Given the description of an element on the screen output the (x, y) to click on. 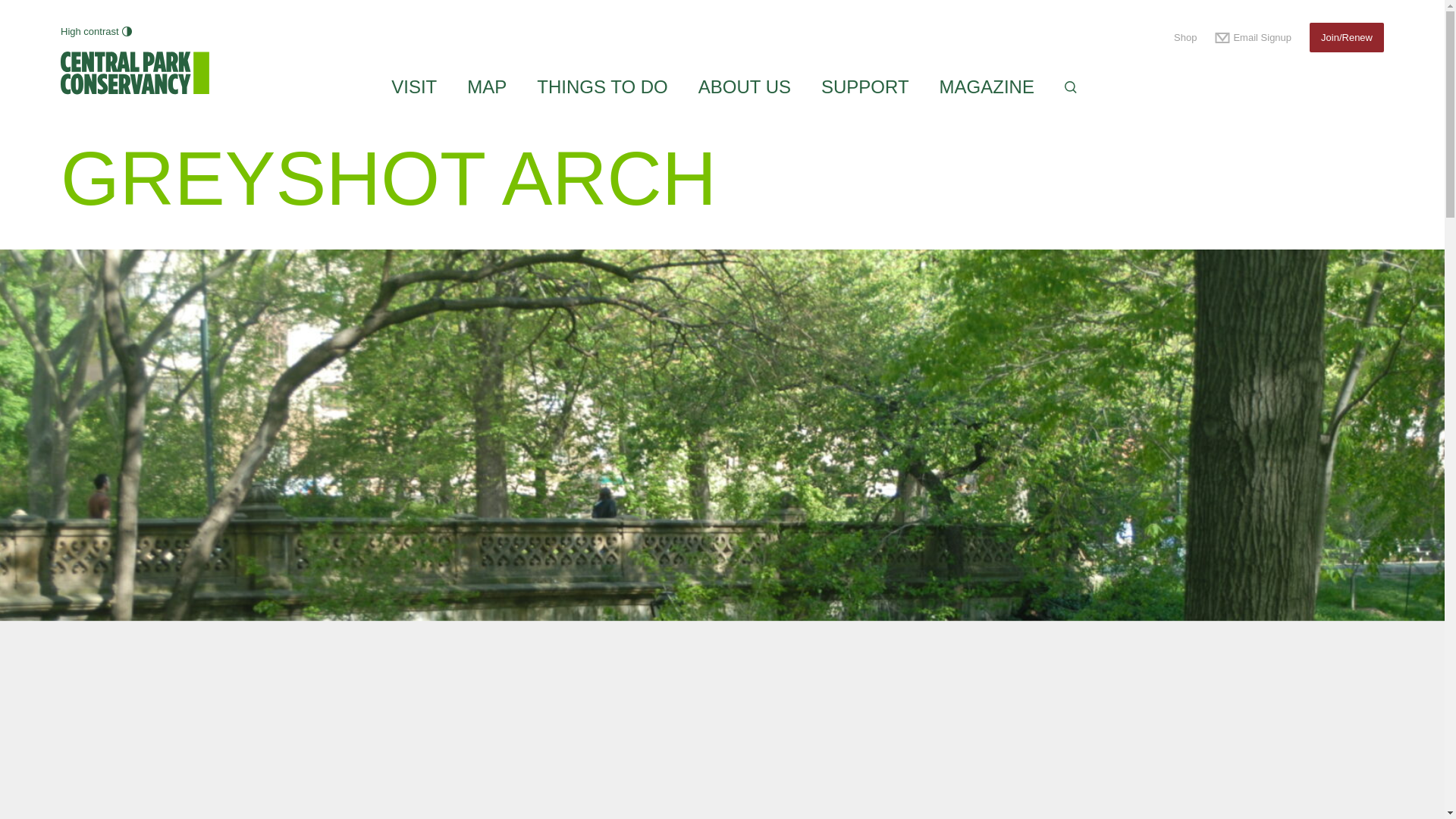
SUPPORT (864, 86)
THINGS TO DO (601, 86)
High contrast (96, 31)
MAGAZINE (986, 86)
MAP (486, 86)
Shop (1184, 37)
ABOUT US (744, 86)
VISIT (413, 86)
Email Signup (1252, 37)
